Given the description of an element on the screen output the (x, y) to click on. 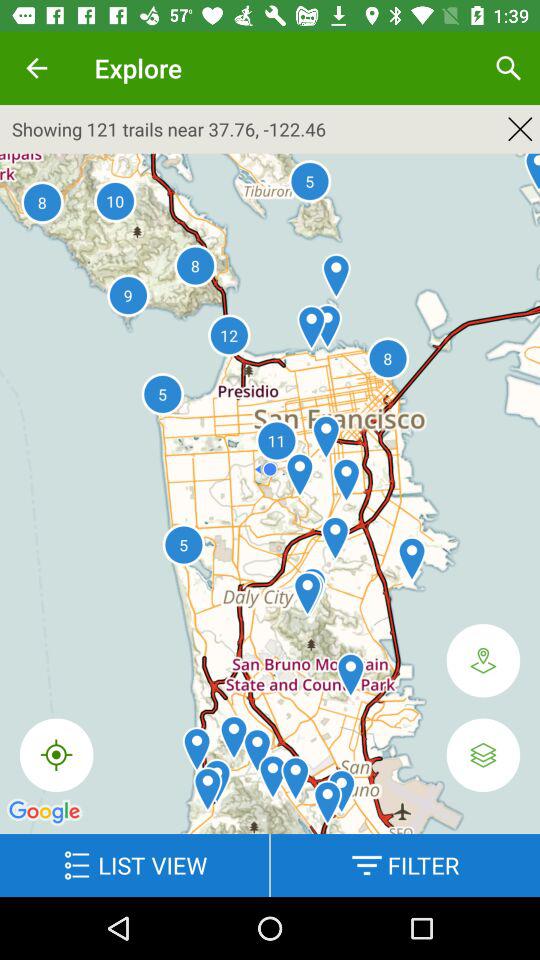
select search (508, 68)
